Given the description of an element on the screen output the (x, y) to click on. 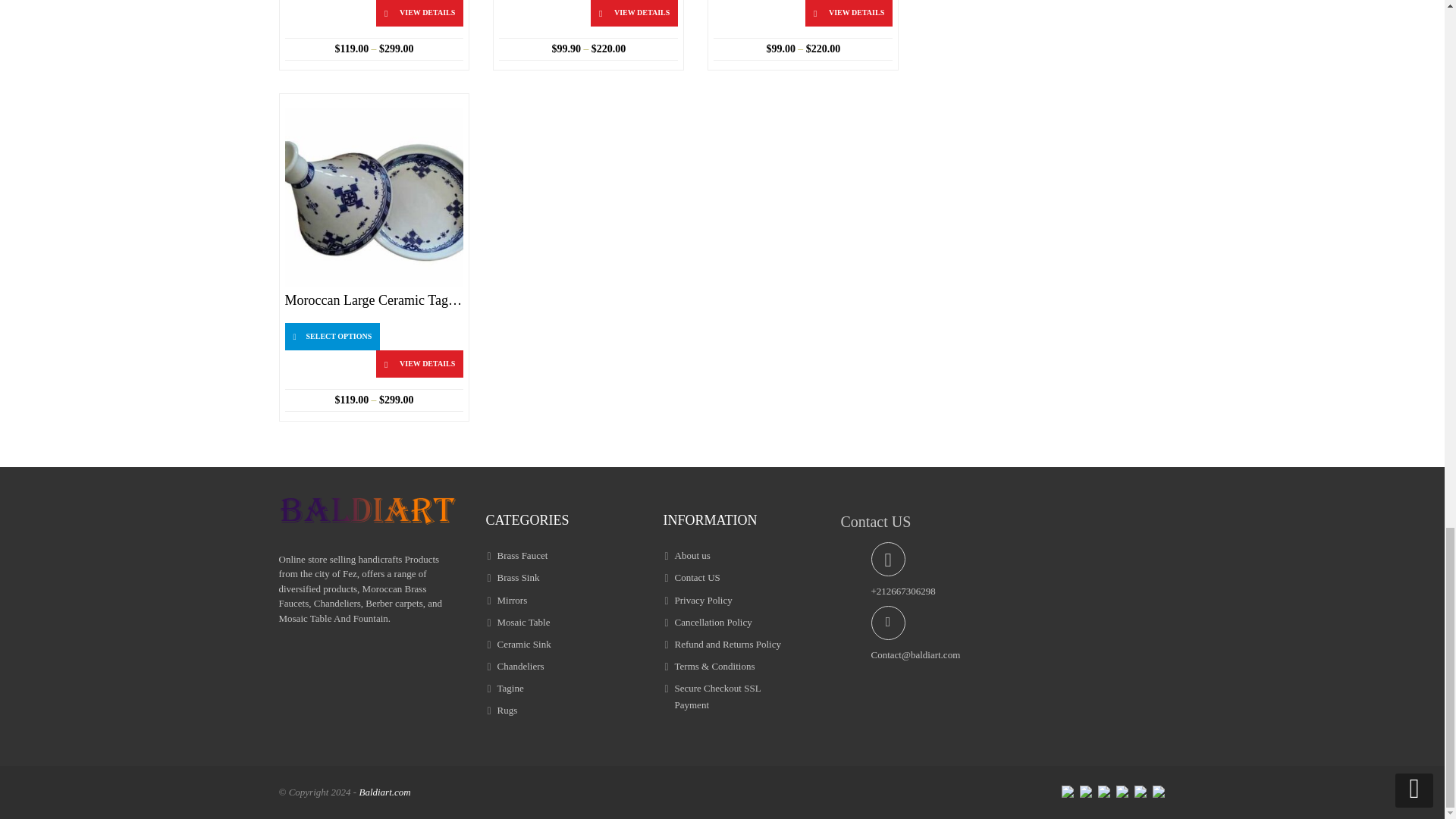
VIEW DETAILS (419, 13)
